Given the description of an element on the screen output the (x, y) to click on. 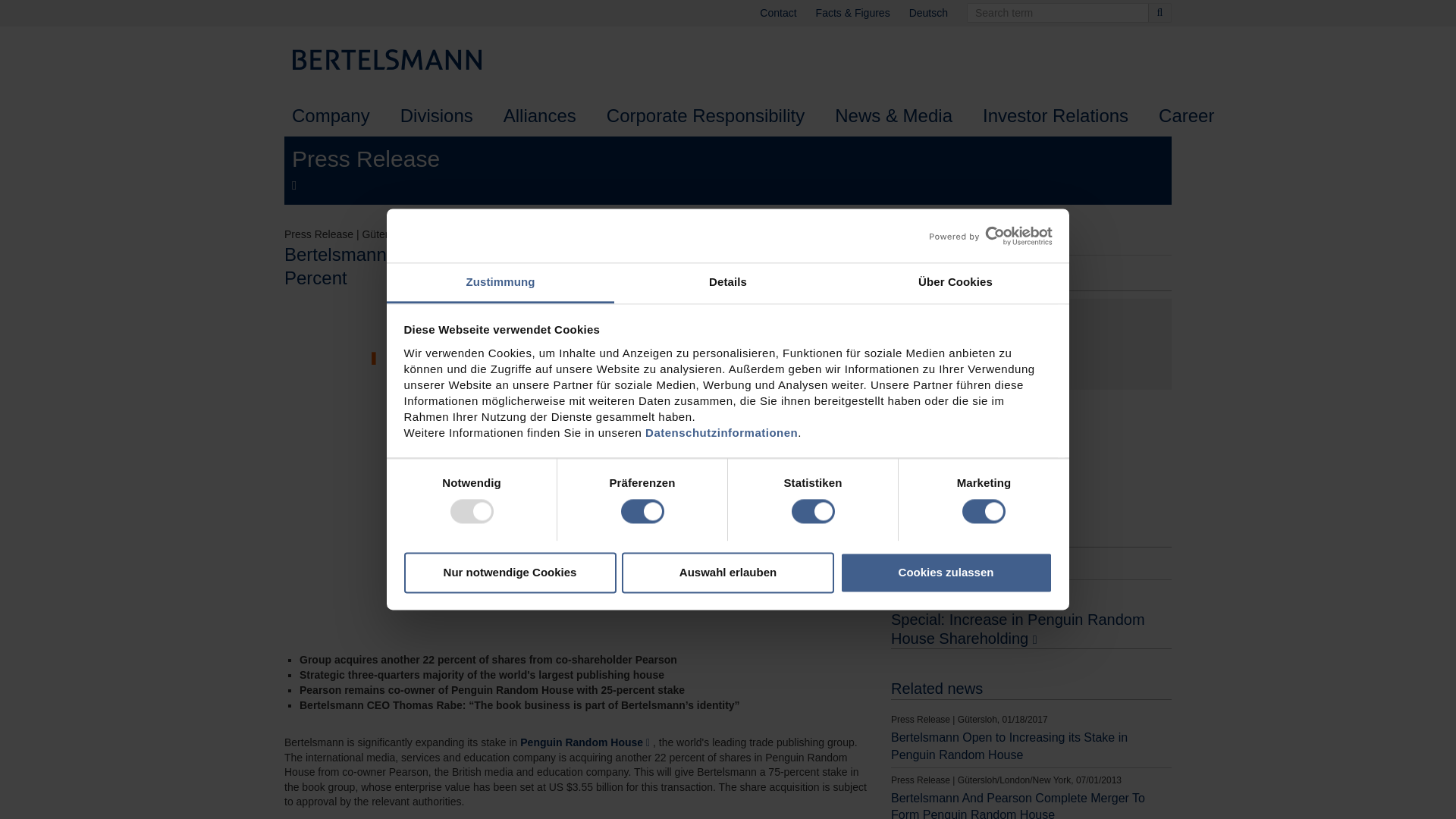
Nur notwendige Cookies (509, 572)
Details (727, 282)
Company (330, 115)
Cookies zulassen (946, 572)
Bertelsmann (394, 59)
Deutsch (927, 13)
Zustimmung (500, 282)
Auswahl erlauben (727, 572)
Contact (778, 13)
Datenschutzinformationen (721, 431)
